Given the description of an element on the screen output the (x, y) to click on. 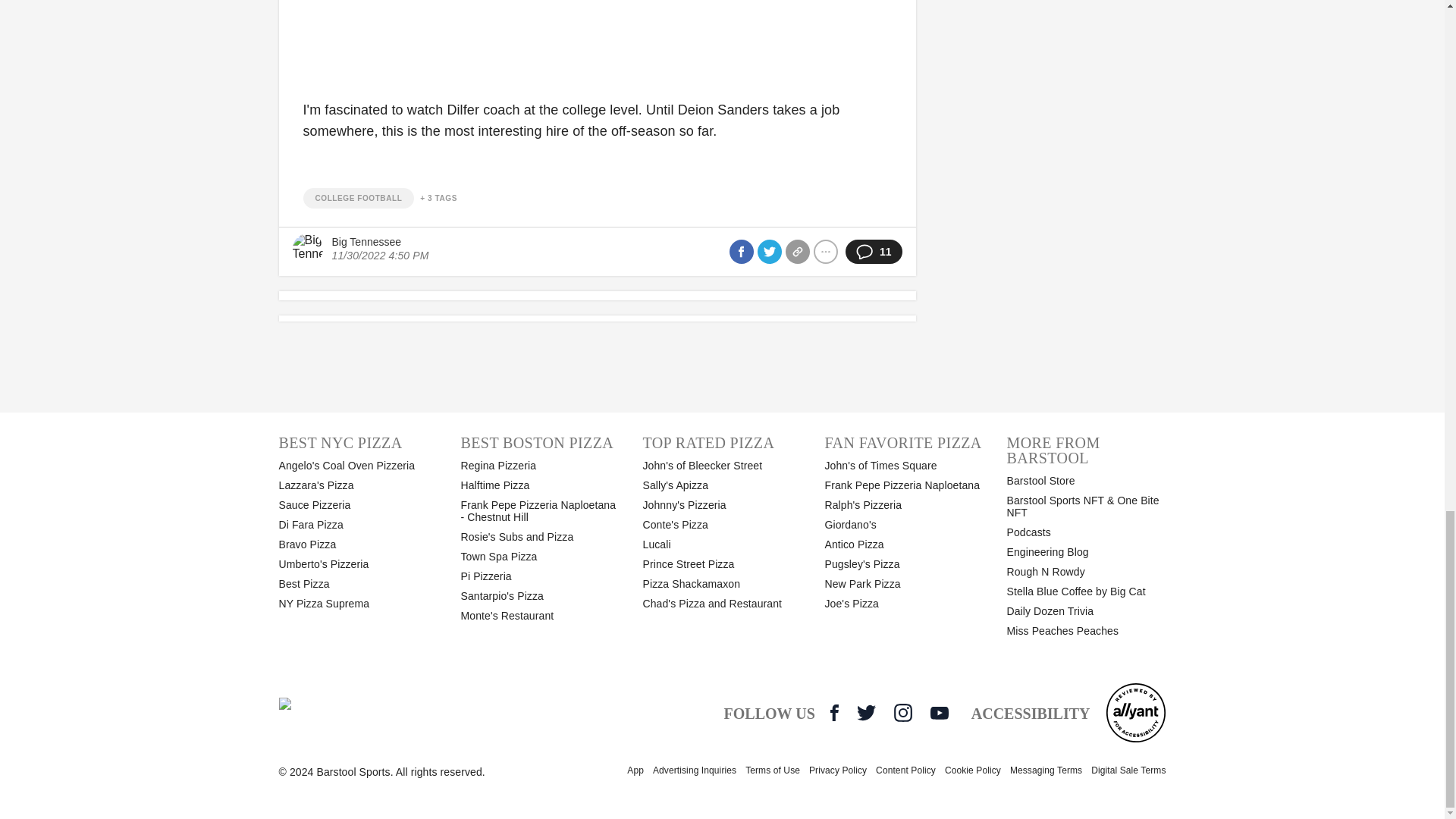
Twitter Icon (866, 712)
Instagram Icon (902, 712)
Reviewed by Allyant for accessibility (1135, 712)
YouTube Icon (939, 712)
